Given the description of an element on the screen output the (x, y) to click on. 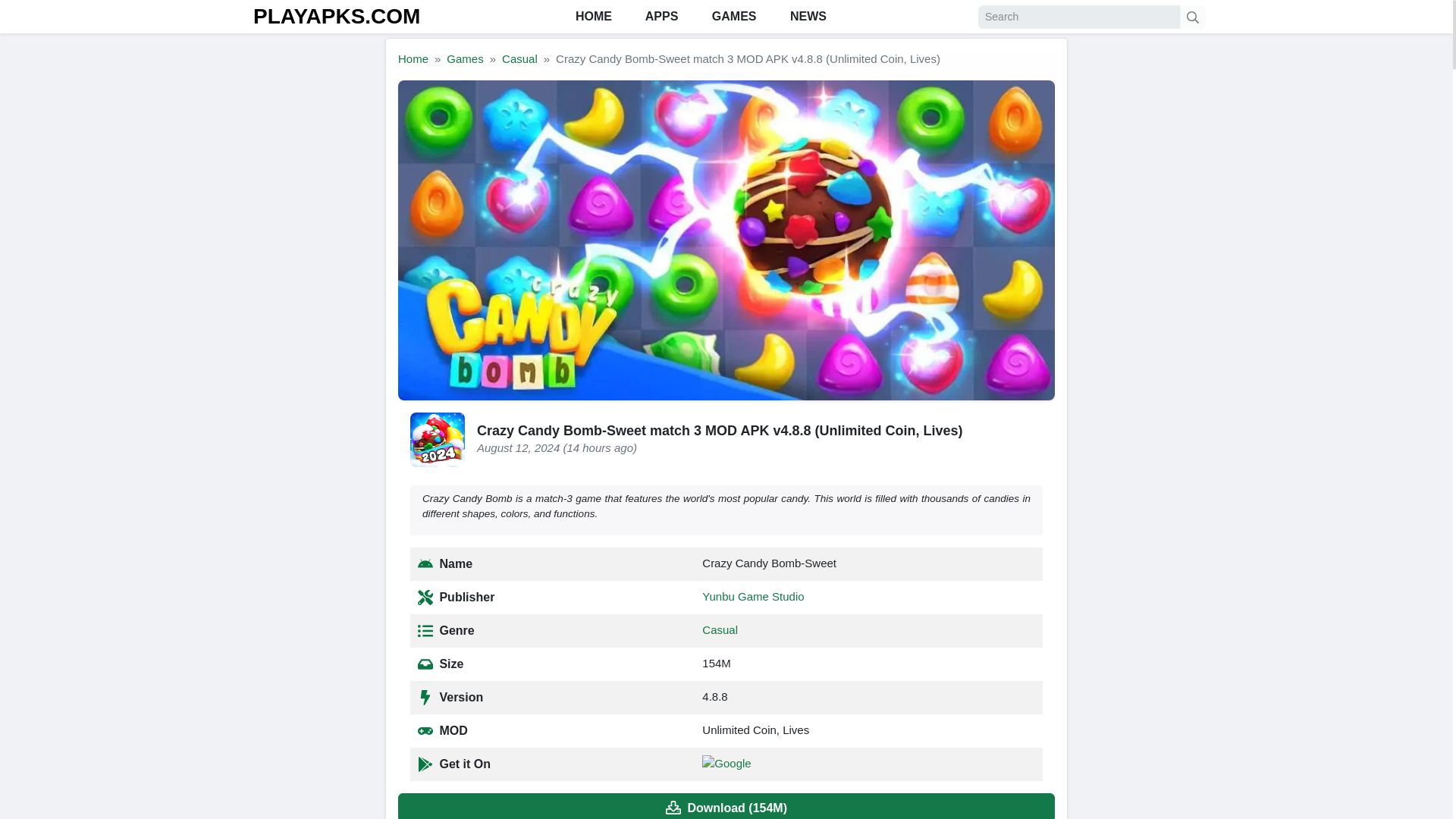
Games (464, 58)
 APPS (660, 16)
Casual (519, 58)
Casual (719, 629)
Yunbu Game Studio (752, 595)
 NEWS (806, 16)
PLAYAPKS.COM (336, 15)
Developer by Yunbu Game Studio (752, 595)
 HOME (591, 16)
Home (412, 58)
